Given the description of an element on the screen output the (x, y) to click on. 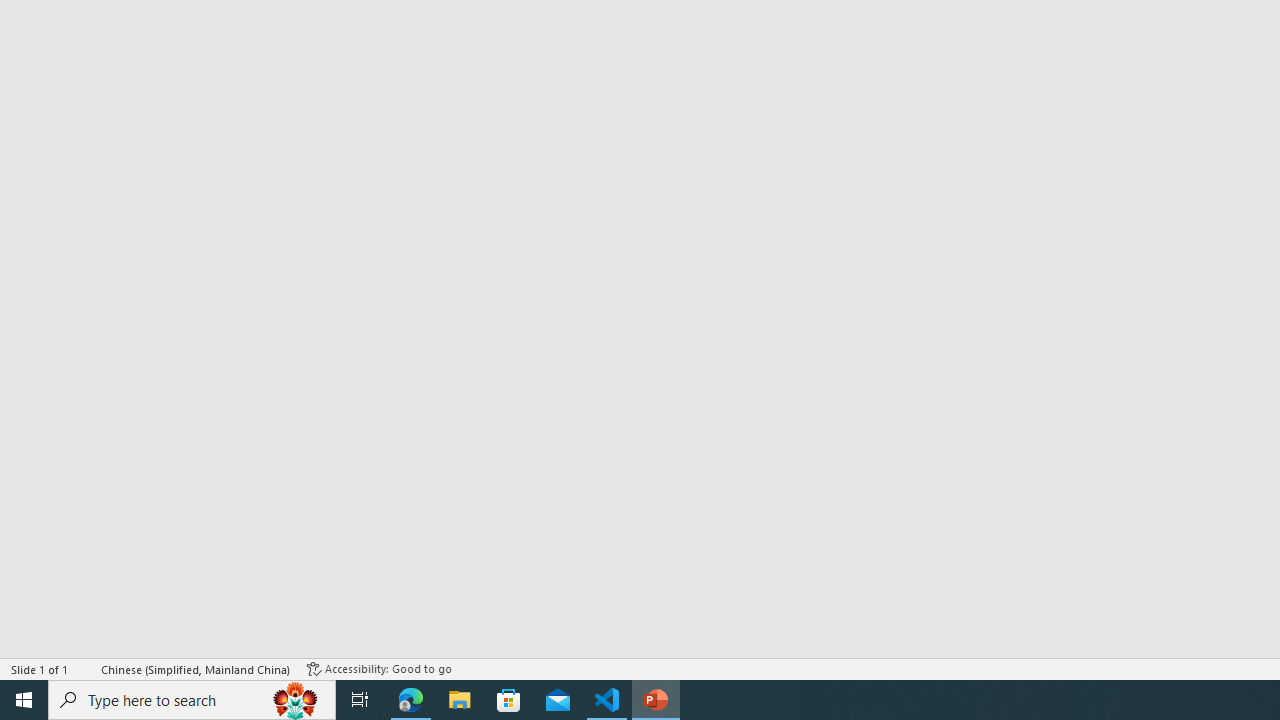
Spell Check  (86, 668)
